Given the description of an element on the screen output the (x, y) to click on. 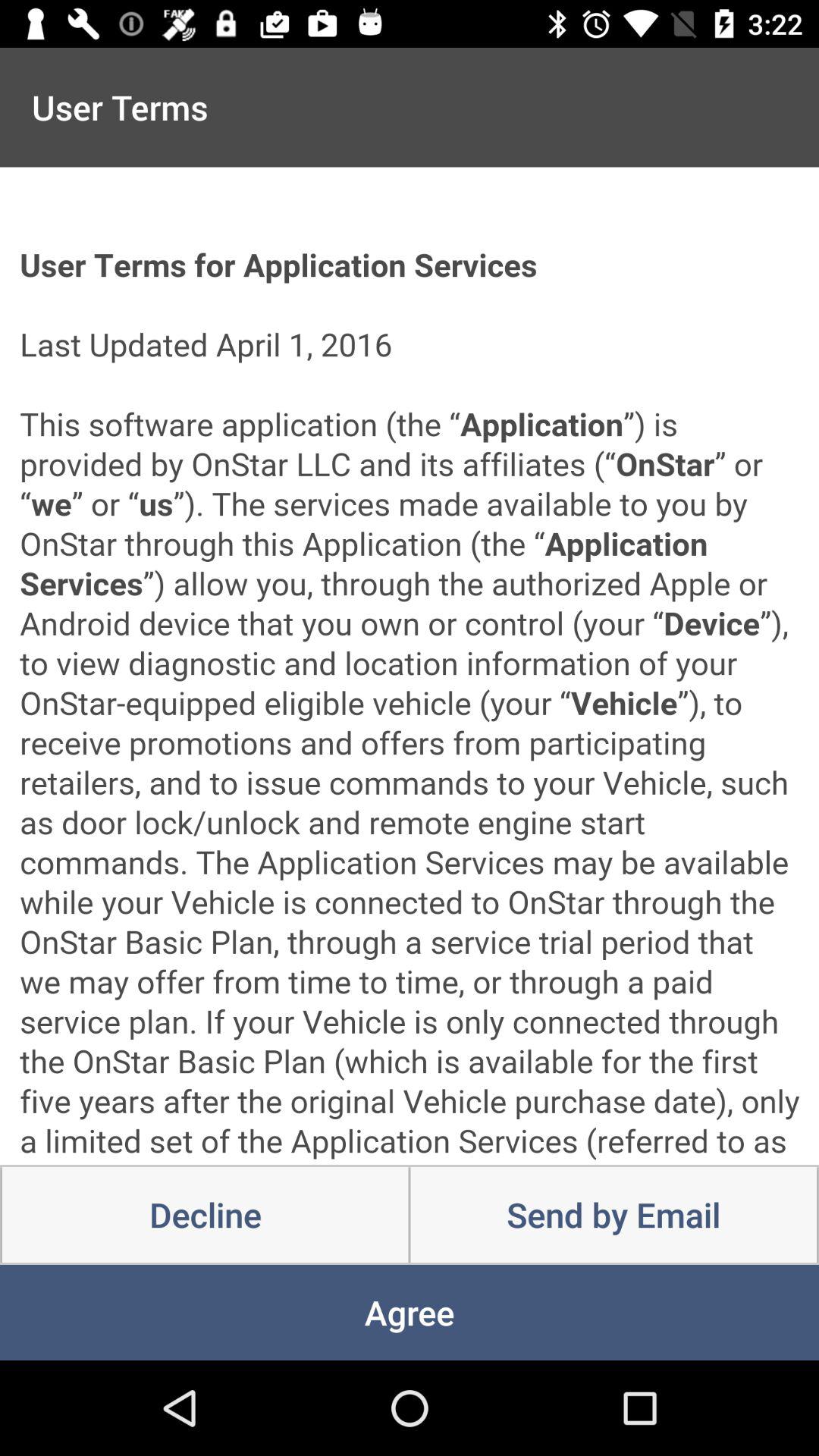
turn off icon next to send by email item (205, 1214)
